Given the description of an element on the screen output the (x, y) to click on. 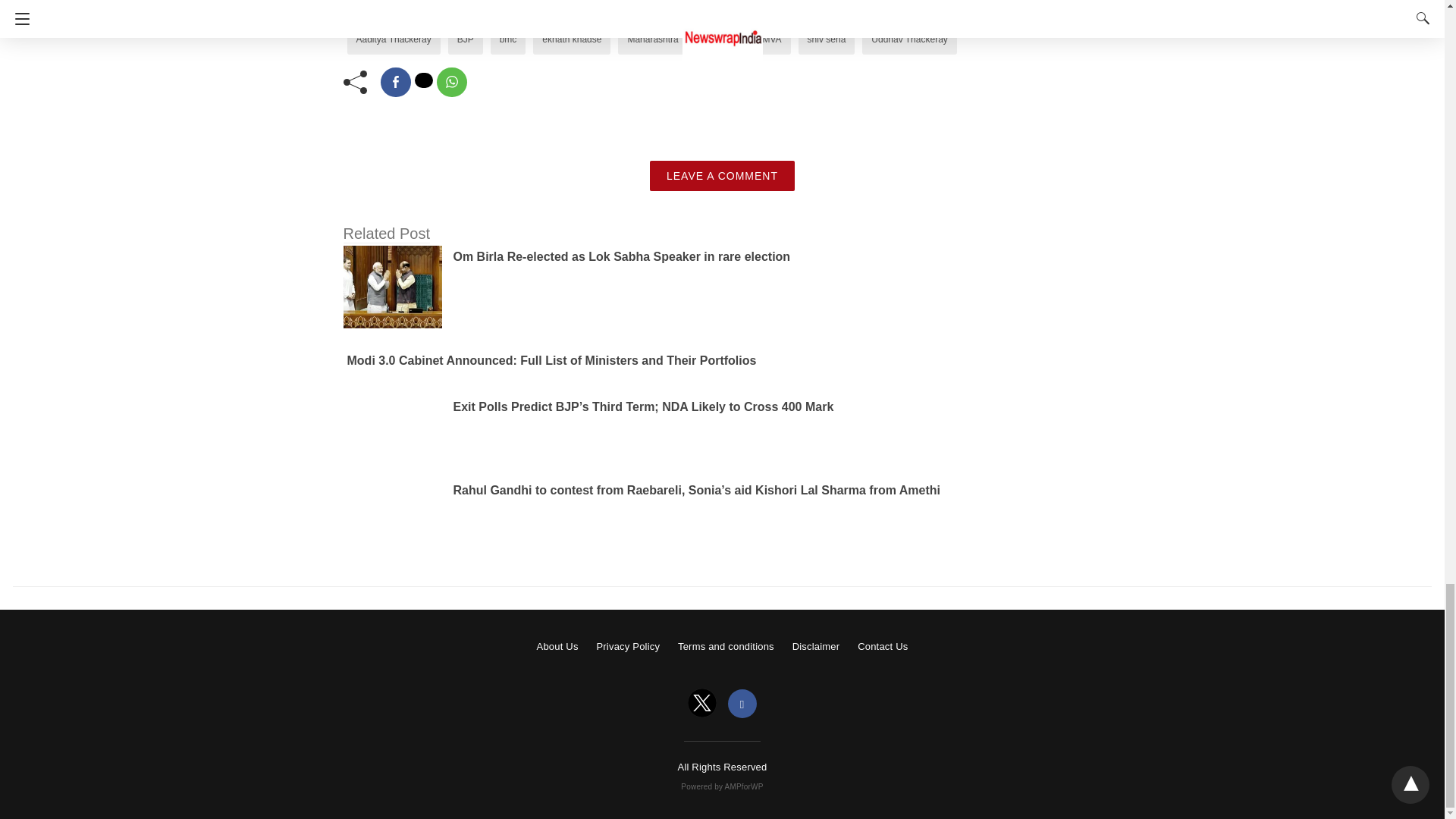
mumbai (720, 39)
shiv sena (826, 39)
Aaditya Thackeray (393, 39)
Powered by AMPforWP (721, 786)
Terms and conditions (726, 645)
MVA (770, 39)
Maharashtra (652, 39)
About Us (557, 645)
facebook profile (742, 704)
eknath khadse (571, 39)
facebook share (395, 82)
Leave a Comment (721, 175)
Privacy Policy (627, 645)
whatsapp share (451, 82)
